Given the description of an element on the screen output the (x, y) to click on. 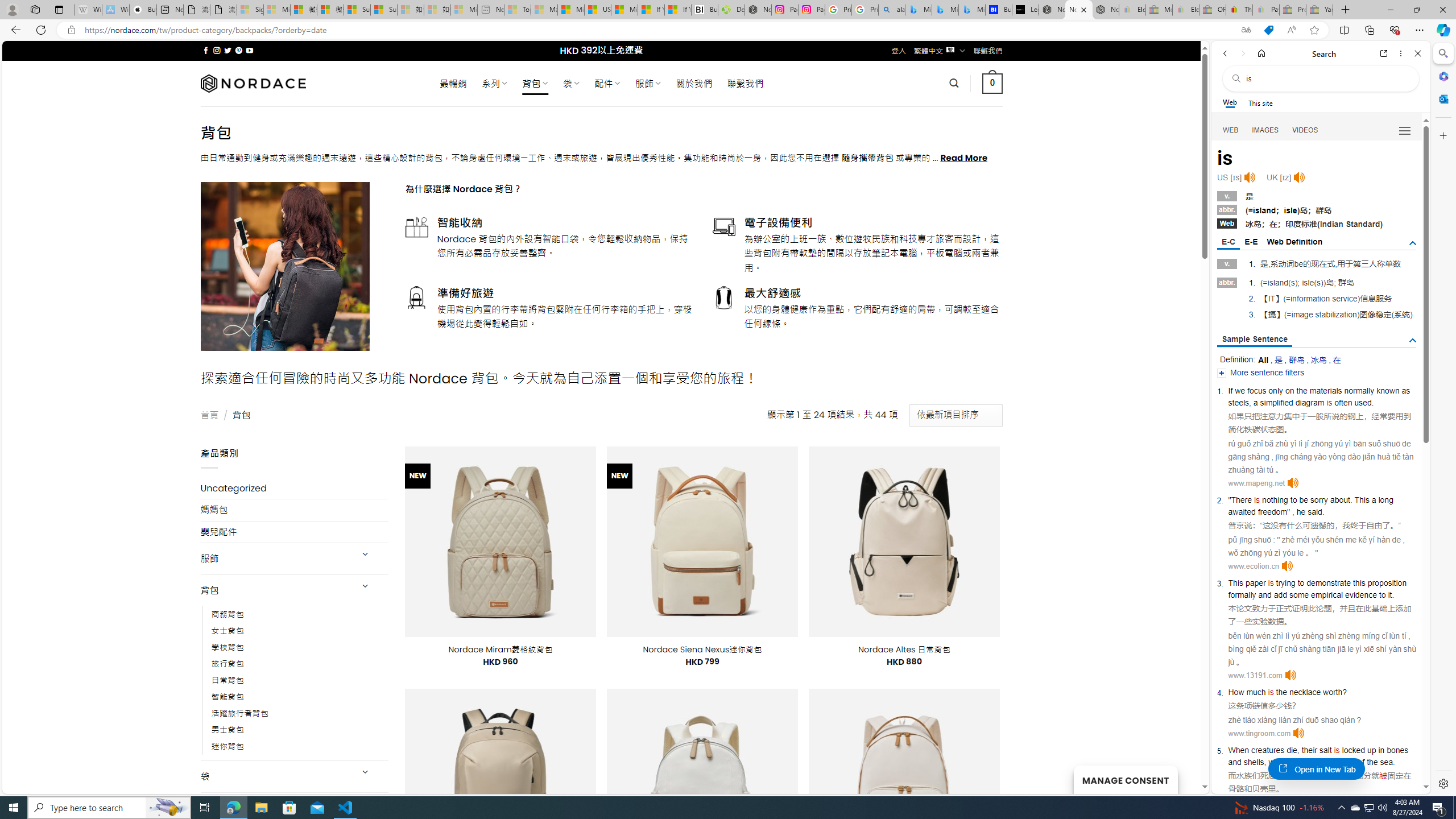
be (1302, 499)
sorry (1318, 499)
